Given the description of an element on the screen output the (x, y) to click on. 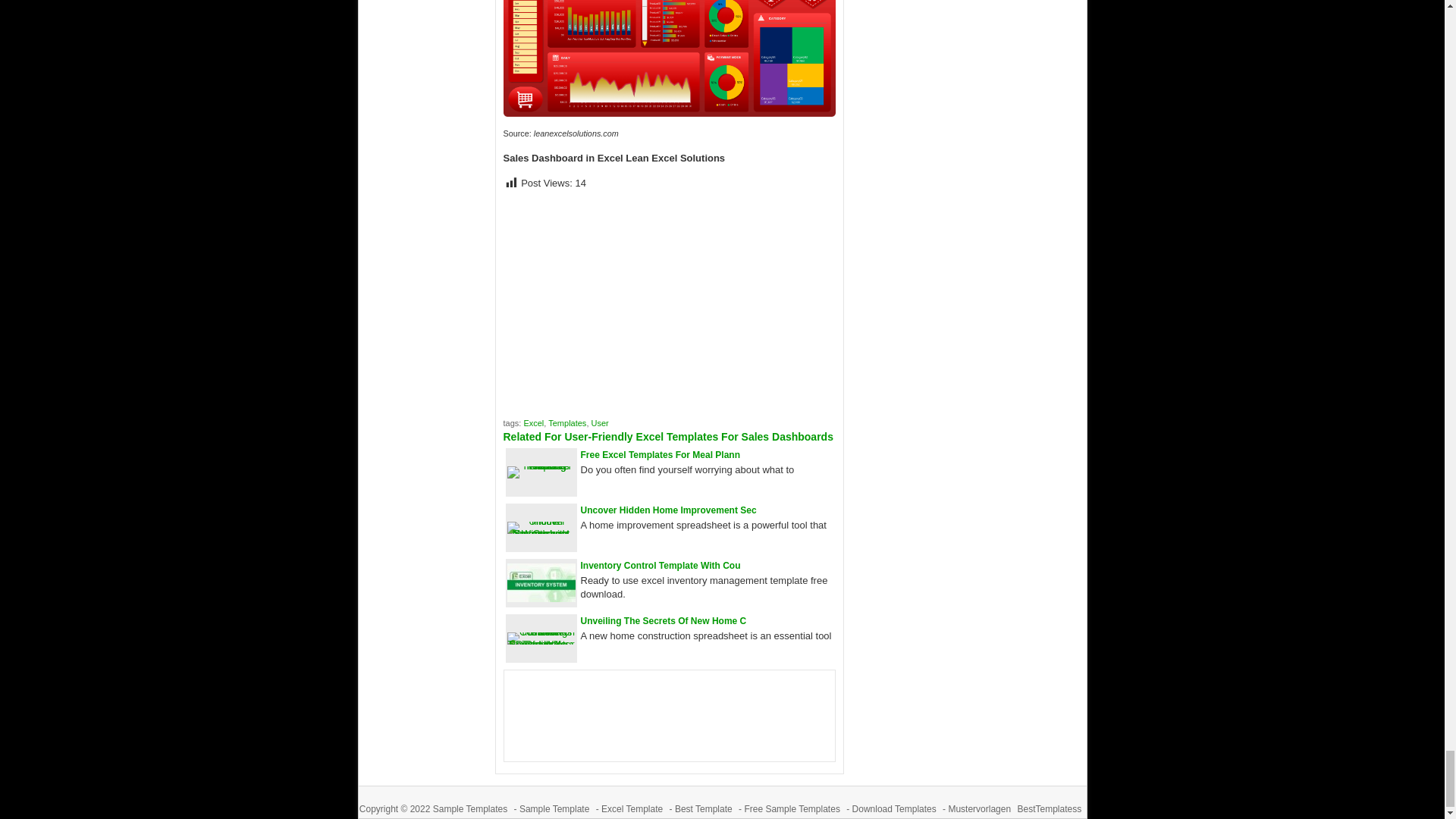
Unveiling The Secrets Of New Home C (663, 620)
Templates (567, 422)
Free Excel Templates for Meal Planning and Tracking (540, 465)
Excel (532, 422)
Inventory Control Template With Cou (660, 565)
Free Excel Templates for Meal Planning and Tracking (660, 454)
